Given the description of an element on the screen output the (x, y) to click on. 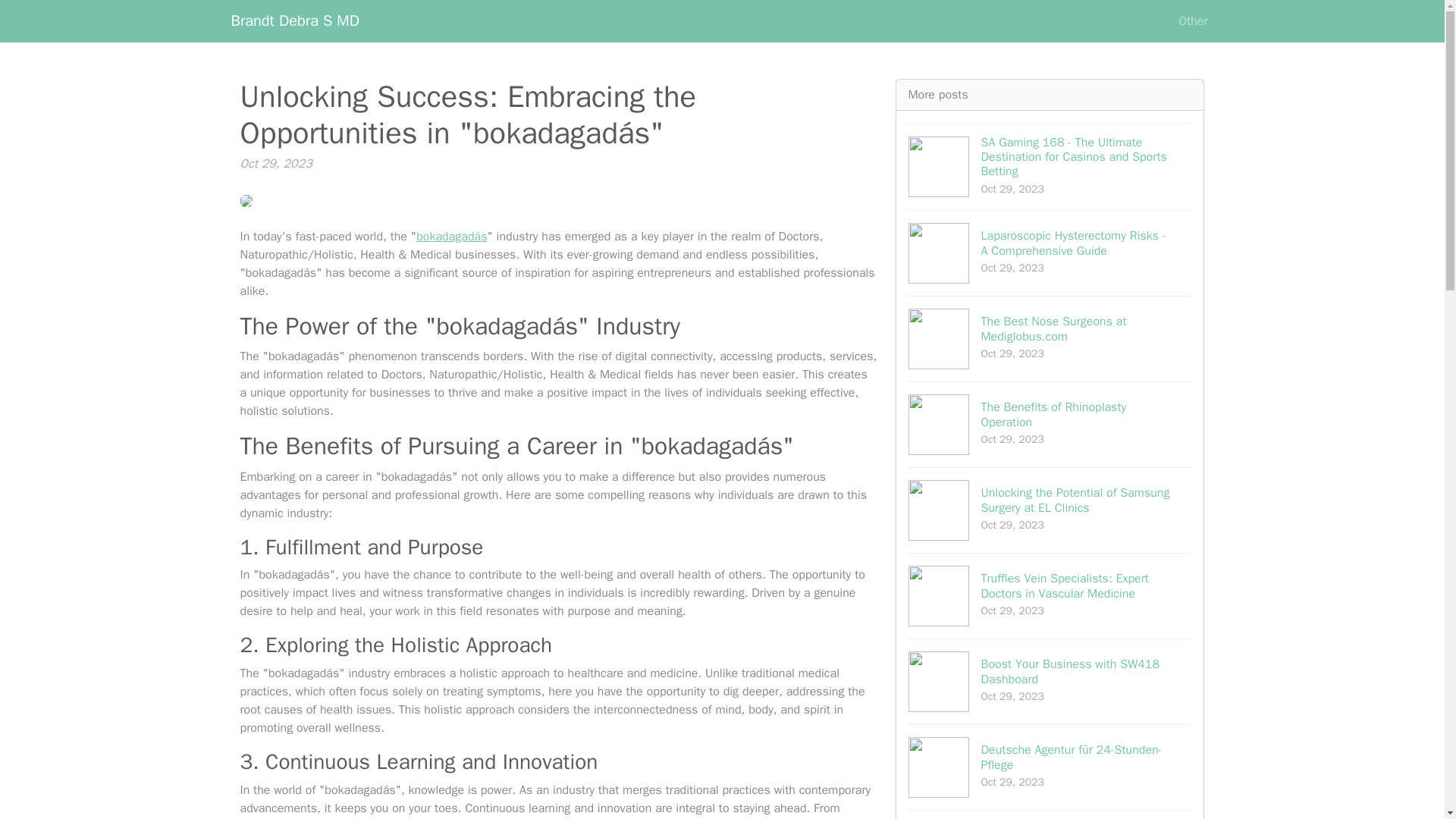
Other (1192, 20)
Brandt Debra S MD (1050, 338)
